Given the description of an element on the screen output the (x, y) to click on. 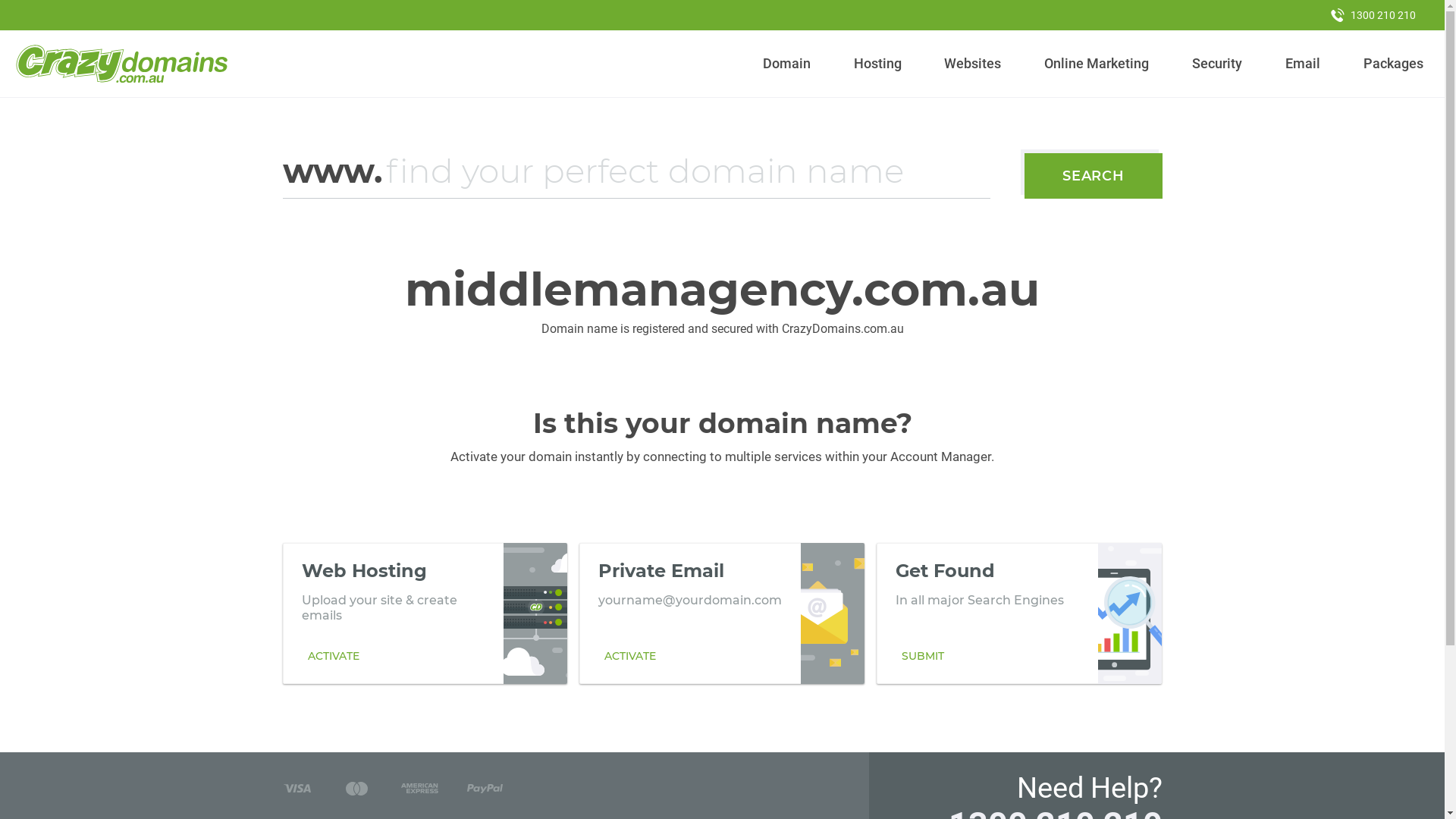
Private Email
yourname@yourdomain.com
ACTIVATE Element type: text (721, 613)
Websites Element type: text (972, 63)
Get Found
In all major Search Engines
SUBMIT Element type: text (1018, 613)
Online Marketing Element type: text (1096, 63)
Email Element type: text (1302, 63)
1300 210 210 Element type: text (1373, 15)
Packages Element type: text (1392, 63)
SEARCH Element type: text (1092, 175)
Web Hosting
Upload your site & create emails
ACTIVATE Element type: text (424, 613)
Security Element type: text (1217, 63)
Domain Element type: text (786, 63)
Hosting Element type: text (877, 63)
